Given the description of an element on the screen output the (x, y) to click on. 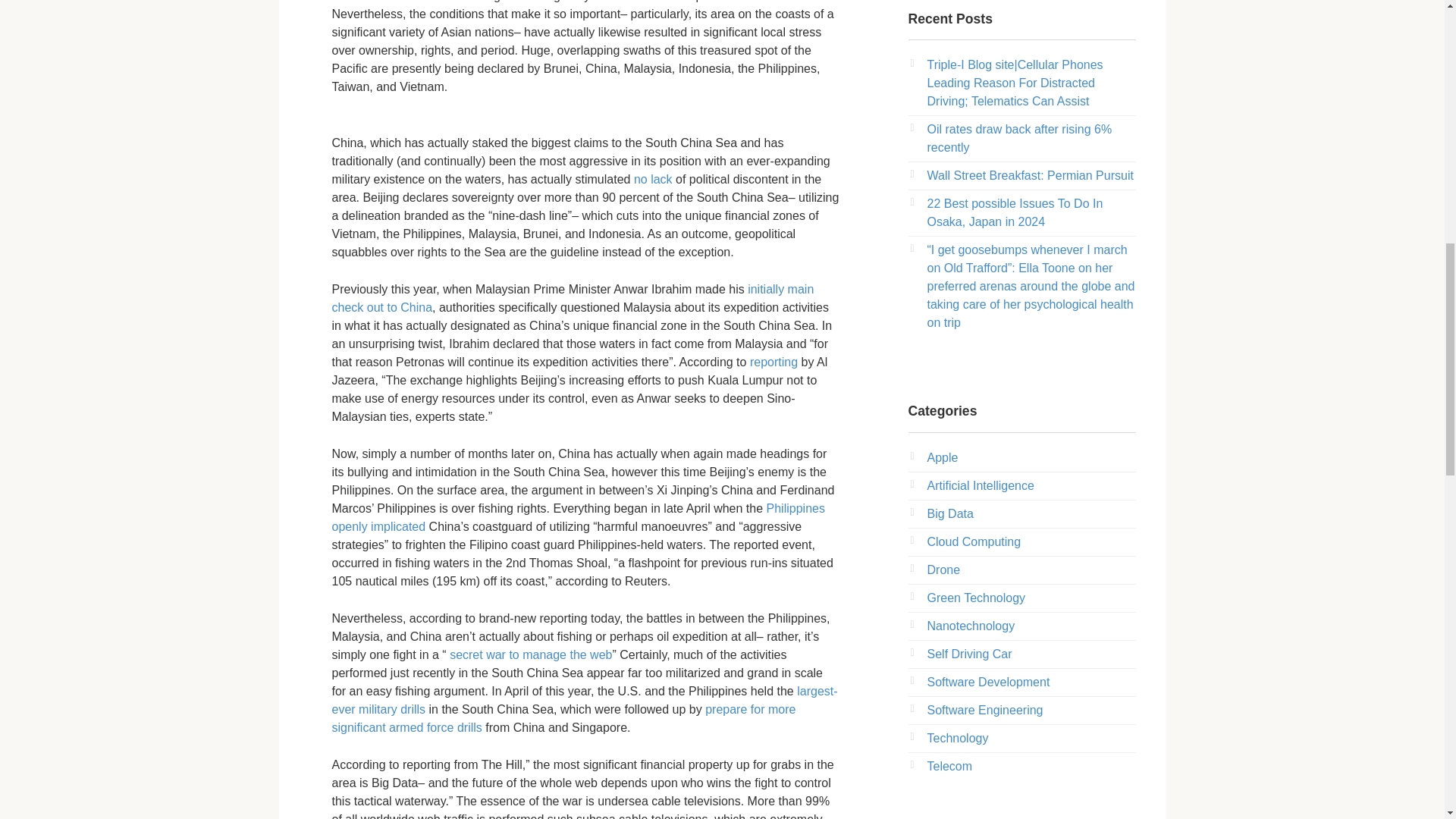
Technology (957, 738)
Self Driving Car (968, 653)
Artificial Intelligence (979, 485)
Big Data (949, 513)
secret war to manage the web (529, 654)
Cloud Computing (973, 541)
Software Engineering (984, 709)
Telecom (949, 766)
Apple (942, 457)
Nanotechnology (970, 625)
prepare for more significant armed force drills (563, 717)
initially main check out to China (572, 297)
Drone (942, 569)
Green Technology (975, 597)
no lack (652, 178)
